Given the description of an element on the screen output the (x, y) to click on. 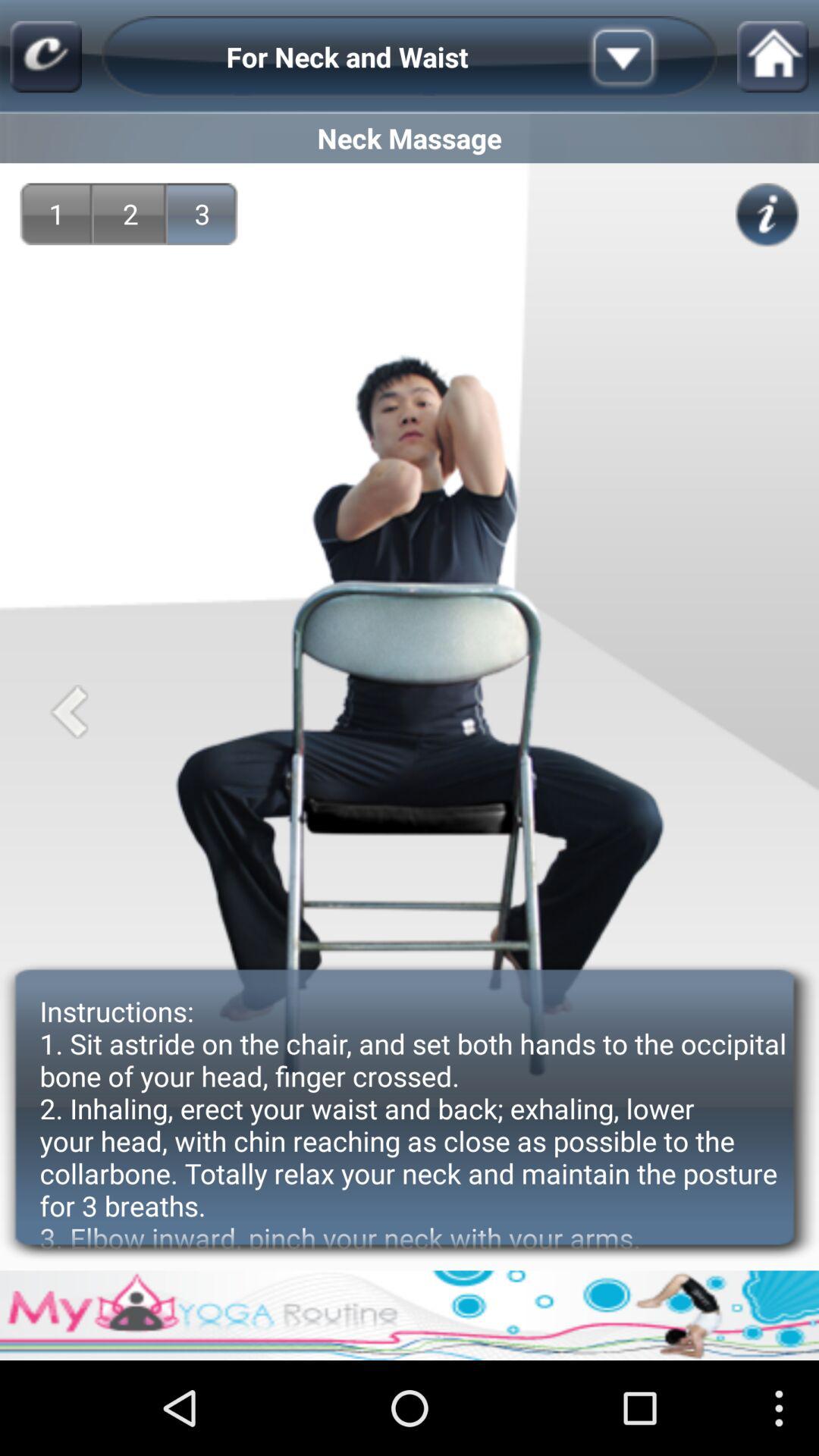
click app to the right of the for neck and item (646, 56)
